Given the description of an element on the screen output the (x, y) to click on. 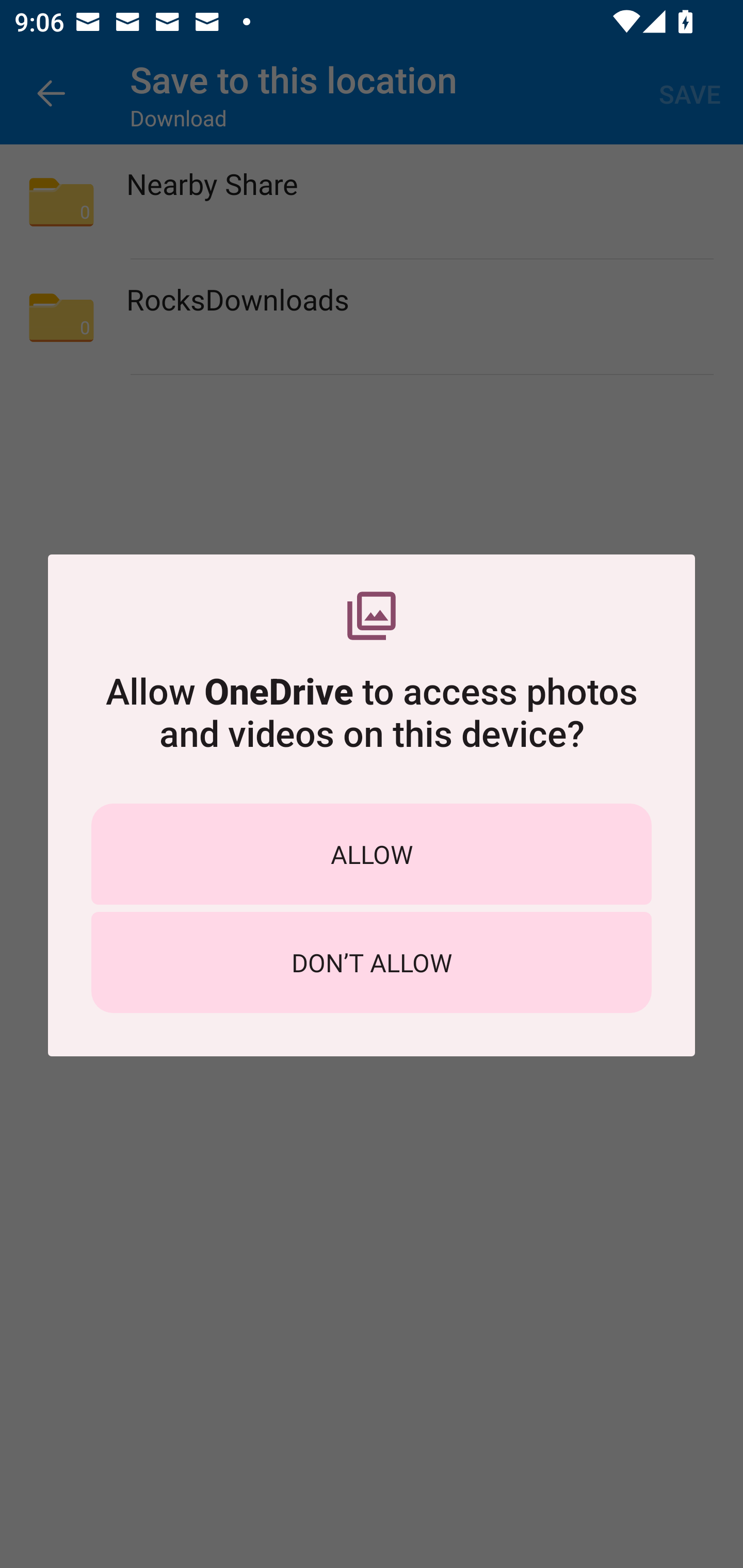
ALLOW (371, 853)
DON’T ALLOW (371, 962)
